Given the description of an element on the screen output the (x, y) to click on. 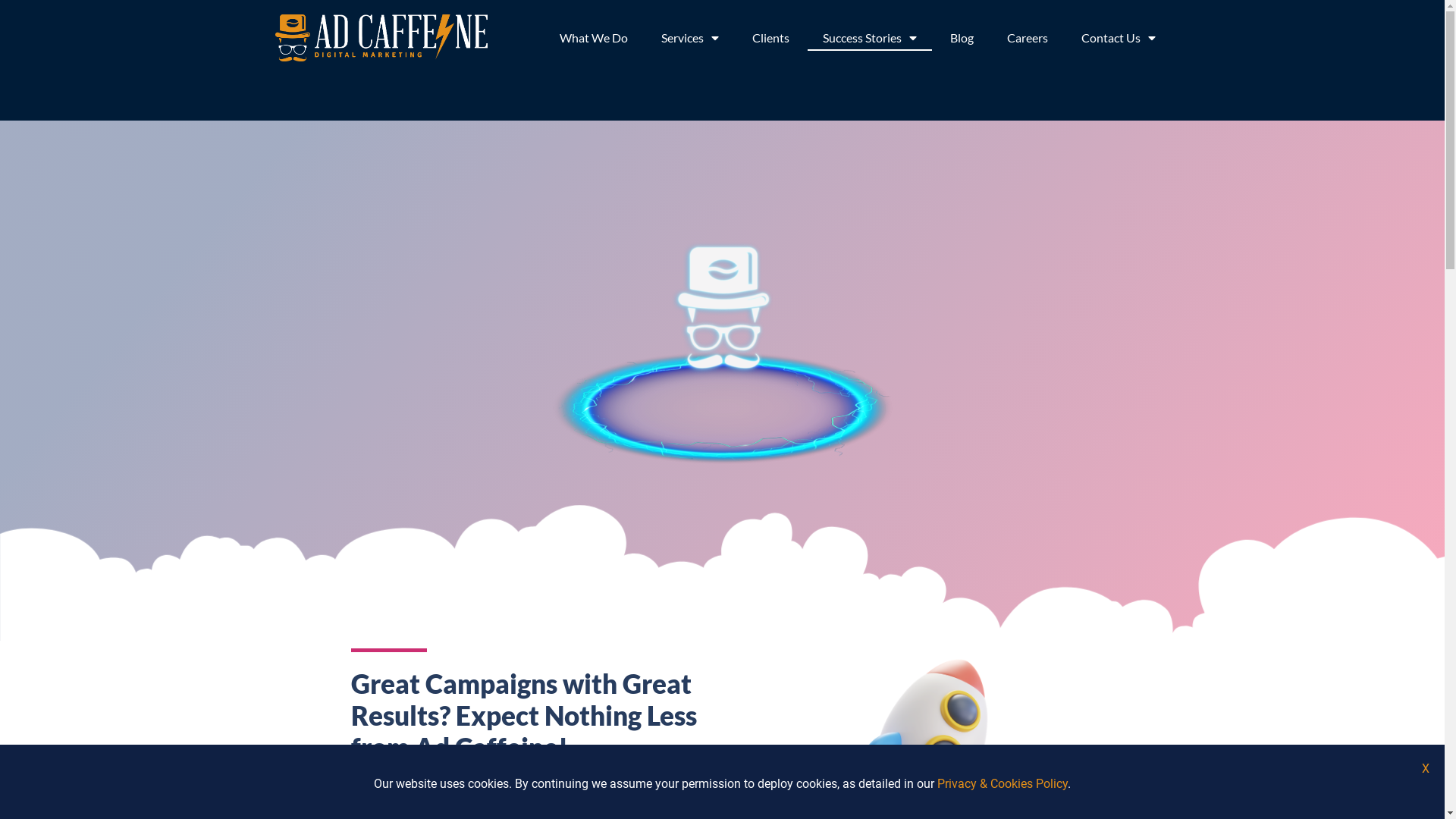
What We Do Element type: text (593, 37)
Careers Element type: text (1027, 37)
X Element type: text (1425, 768)
Services Element type: text (690, 37)
Success Stories Element type: text (869, 37)
Contact Us Element type: text (1118, 37)
Blog Element type: text (961, 37)
Clients Element type: text (770, 37)
Privacy & Cookies Policy Element type: text (1002, 783)
